Given the description of an element on the screen output the (x, y) to click on. 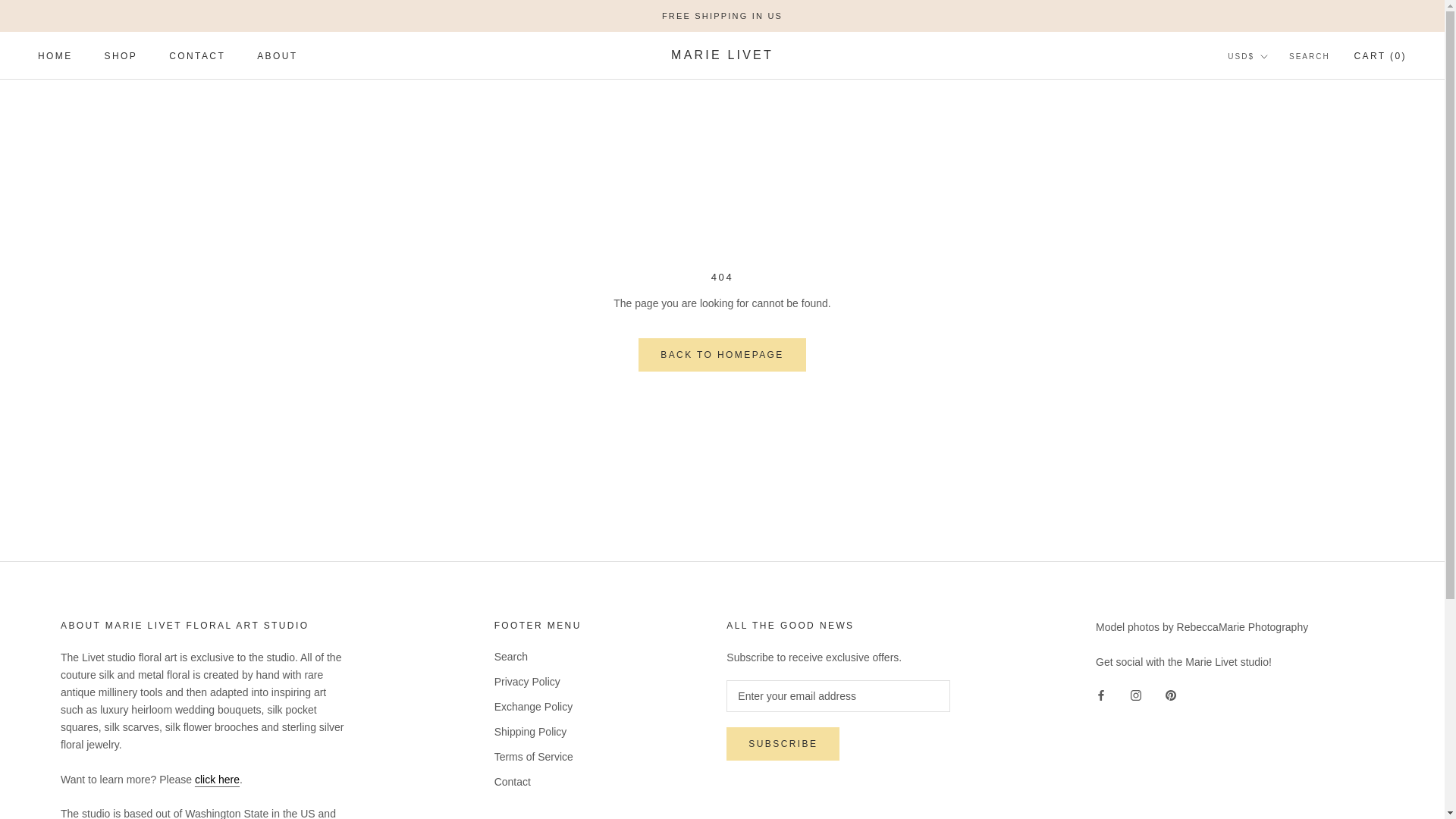
SHOP (121, 55)
About the Studio (277, 55)
